Given the description of an element on the screen output the (x, y) to click on. 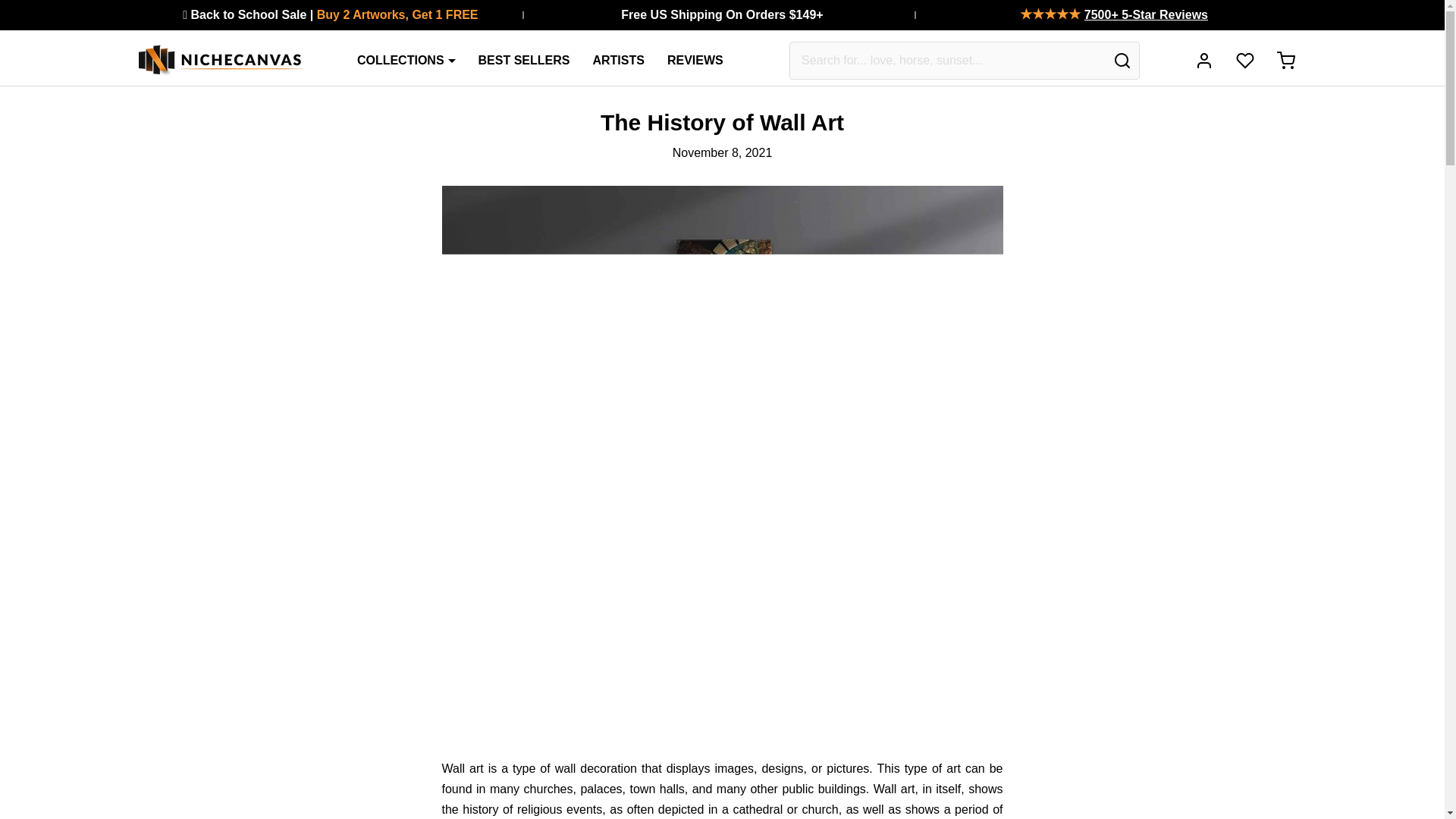
Account (1203, 60)
Wishlist (1244, 60)
Cart (1285, 60)
